Given the description of an element on the screen output the (x, y) to click on. 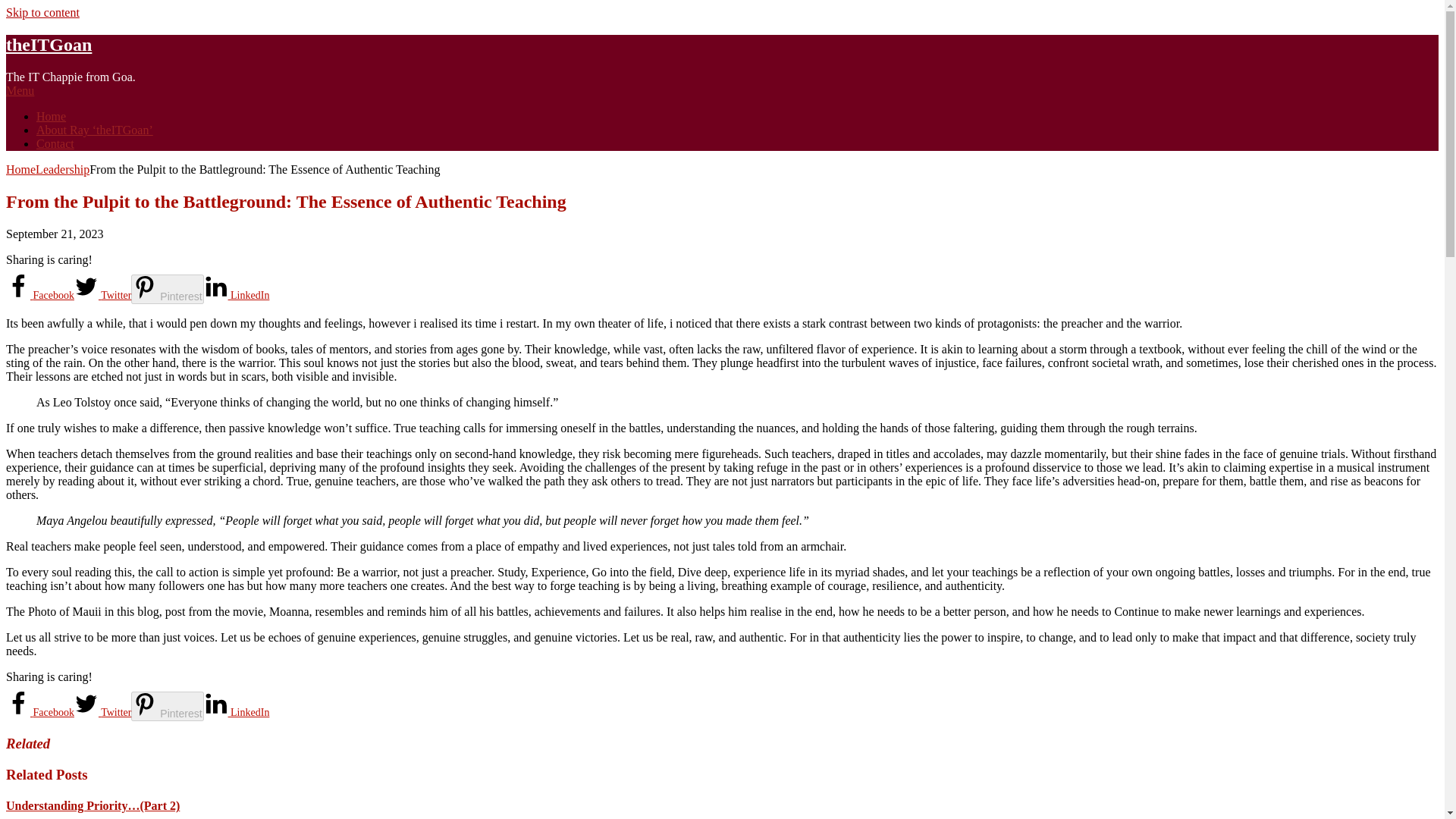
Twitter (102, 295)
Home (19, 169)
Share on Facebook (39, 295)
Menu (19, 90)
Share on LinkedIn (236, 295)
LinkedIn (236, 712)
Share on LinkedIn (236, 712)
theITGoan (48, 44)
Share on Twitter (102, 712)
Save to Pinterest (167, 288)
